Given the description of an element on the screen output the (x, y) to click on. 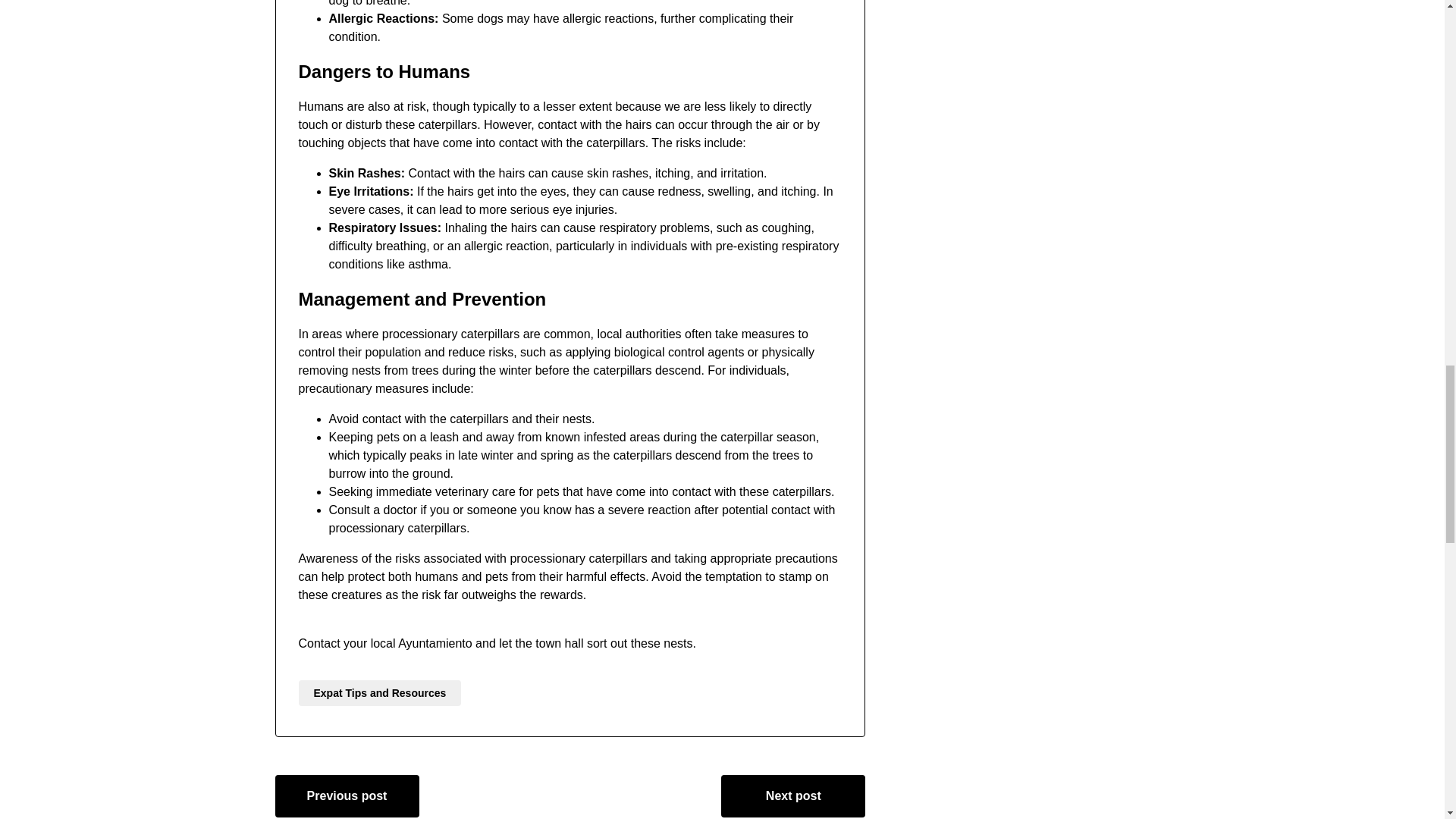
Expat Tips and Resources (379, 692)
Next post (792, 795)
Previous post (347, 795)
